Given the description of an element on the screen output the (x, y) to click on. 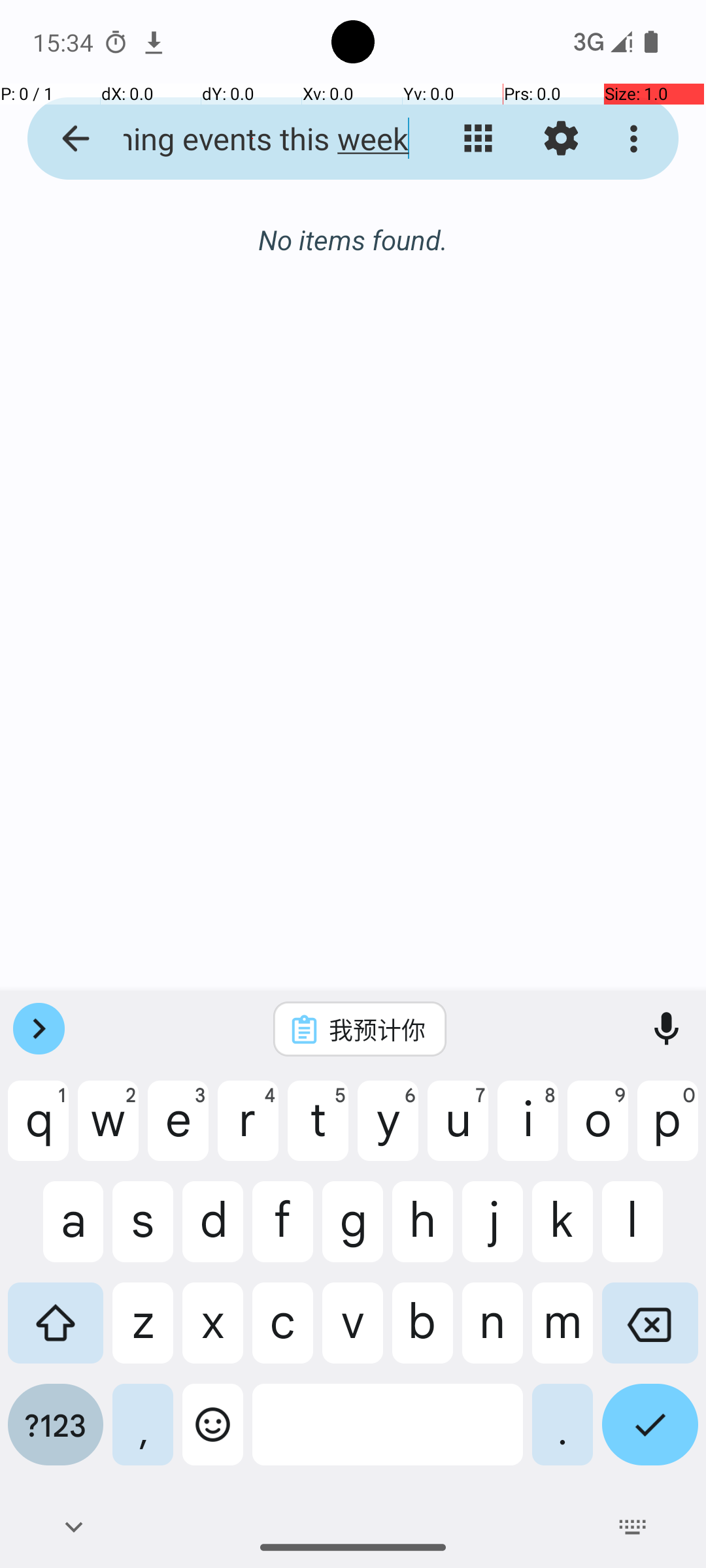
upcoming events this week Element type: android.widget.EditText (252, 138)
我预计你 Element type: android.widget.TextView (376, 1028)
